Given the description of an element on the screen output the (x, y) to click on. 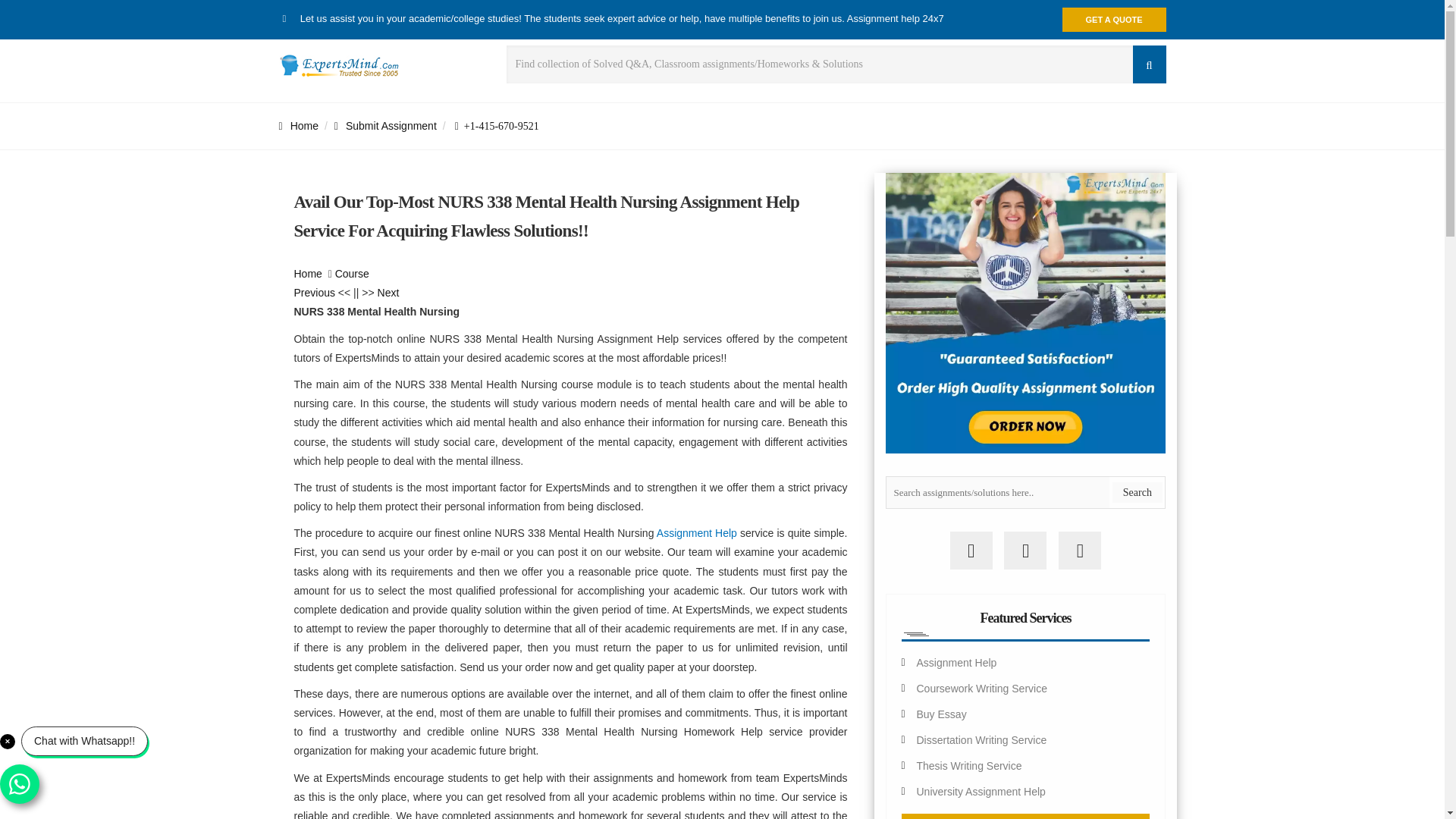
assignment help (298, 125)
Thesis Writing Service (968, 766)
Previous (314, 292)
Submit Assignment (385, 125)
Assignment Help (696, 532)
Assignment Help (696, 532)
Coursework Writing Service (980, 688)
Order Now (1025, 816)
Assignment Help (955, 662)
University Assignment Help (980, 791)
assignment help (307, 273)
Dissertation Writing Service (980, 739)
University Assignment Help (980, 791)
Next (387, 292)
Search (1136, 492)
